Given the description of an element on the screen output the (x, y) to click on. 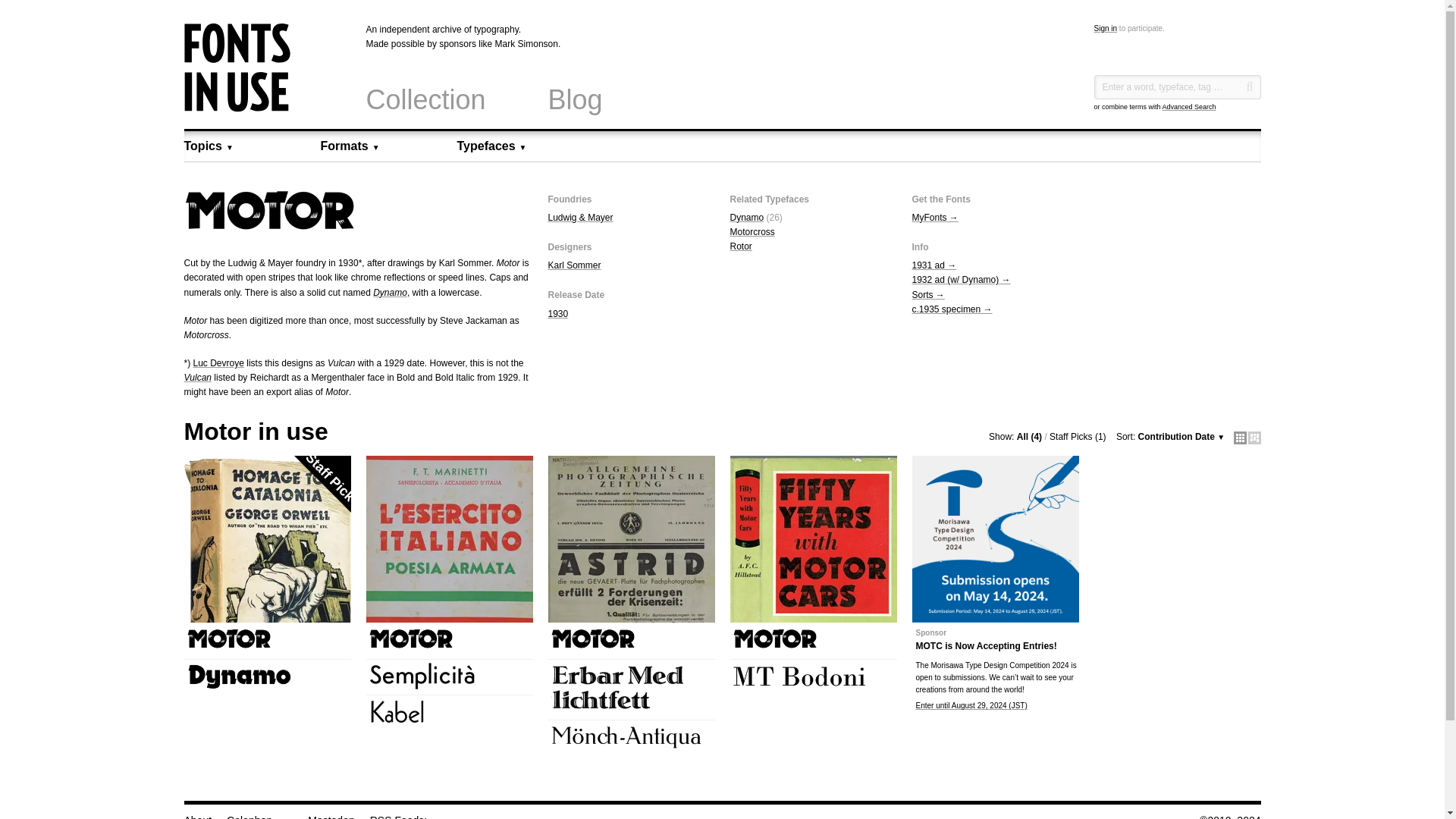
Made possible by sponsors like Mark Simonson. (507, 43)
Sign in (1104, 28)
Fonts in Use (236, 108)
